Given the description of an element on the screen output the (x, y) to click on. 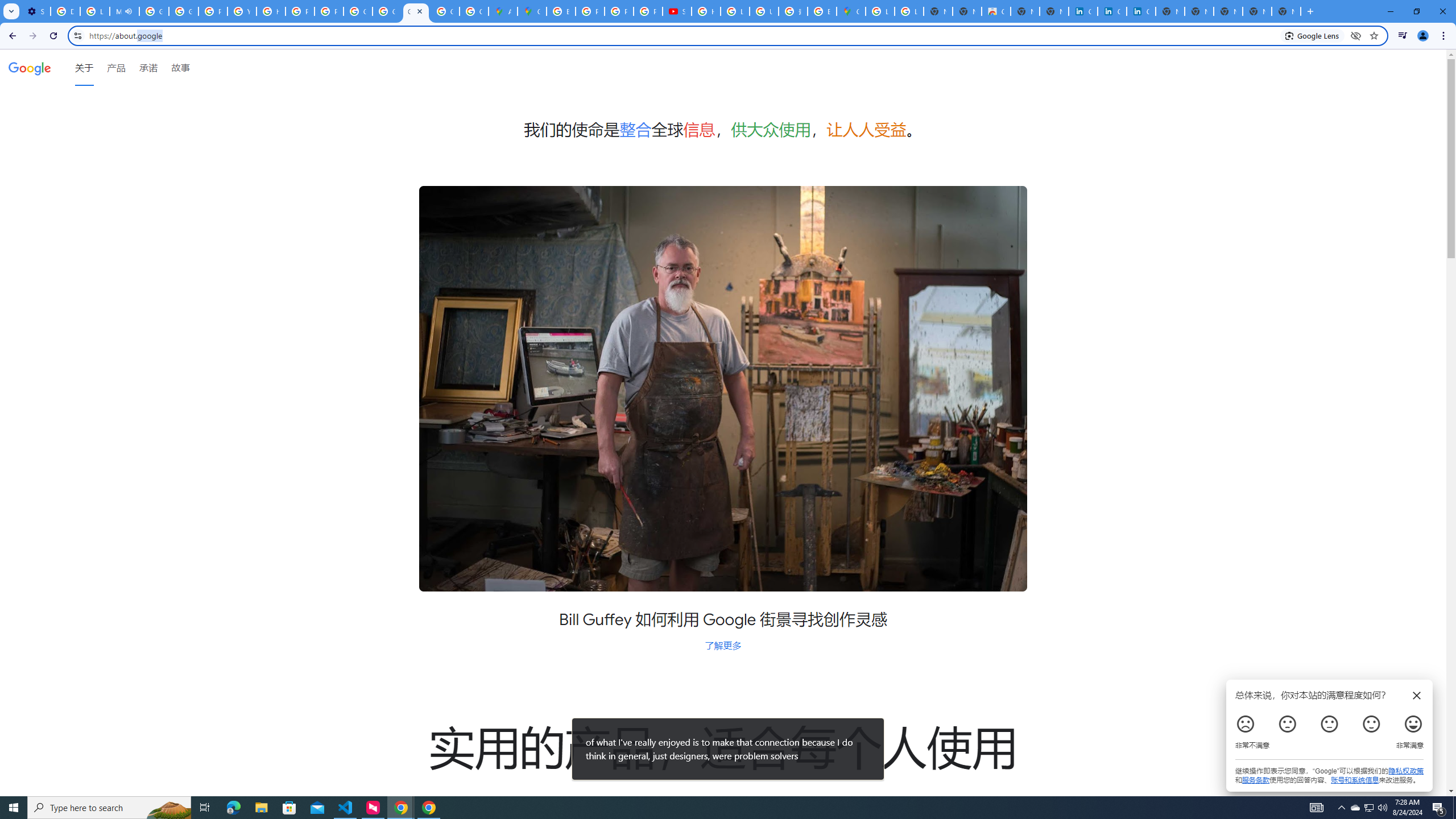
Cookie Policy | LinkedIn (1082, 11)
Google Maps (531, 11)
Google (29, 67)
Chrome Web Store (996, 11)
